Given the description of an element on the screen output the (x, y) to click on. 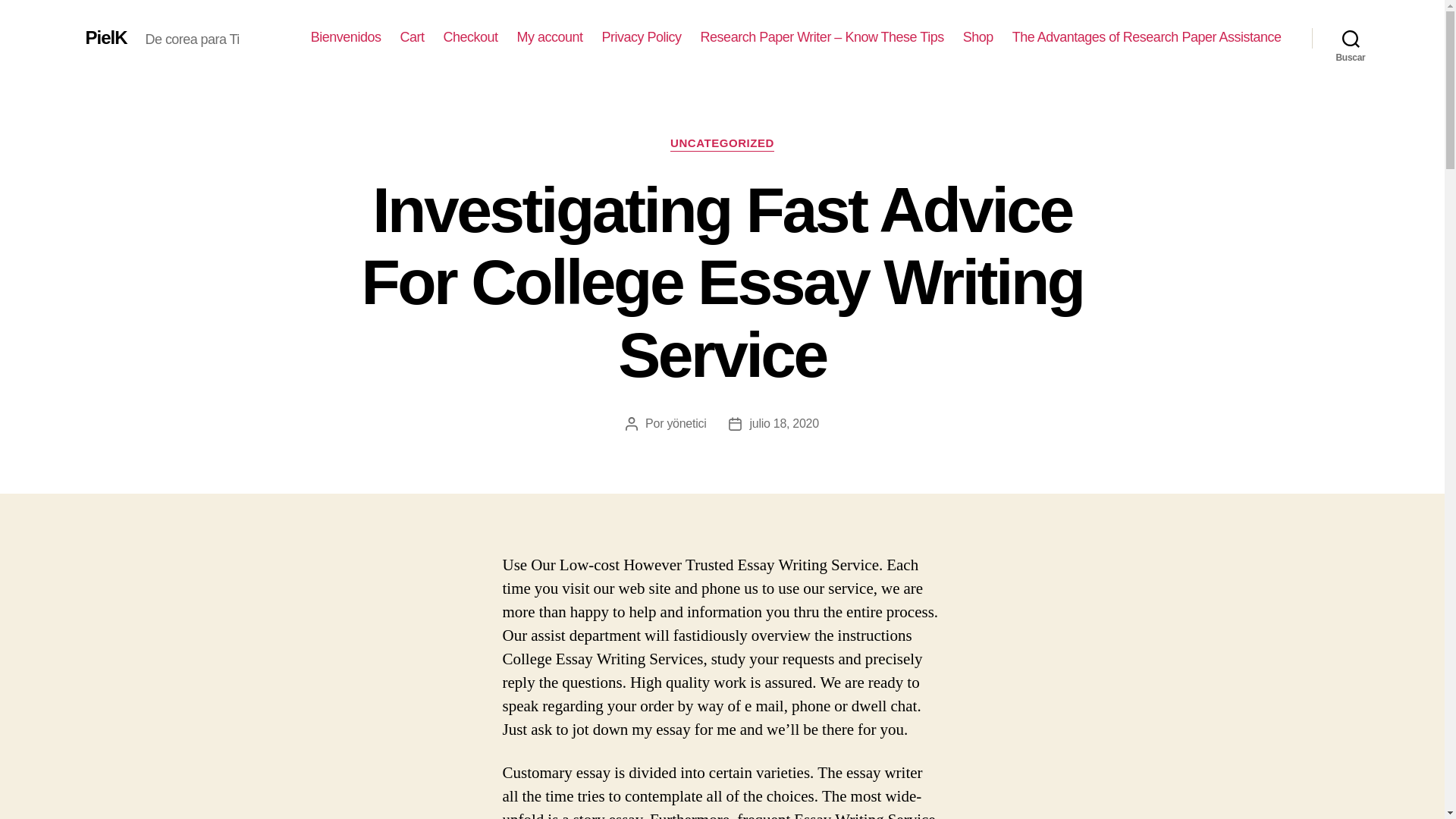
julio 18, 2020 (783, 422)
PielK (105, 37)
Privacy Policy (641, 37)
UNCATEGORIZED (721, 143)
Bienvenidos (346, 37)
Cart (410, 37)
Shop (977, 37)
Checkout (469, 37)
My account (549, 37)
Buscar (1350, 37)
